Given the description of an element on the screen output the (x, y) to click on. 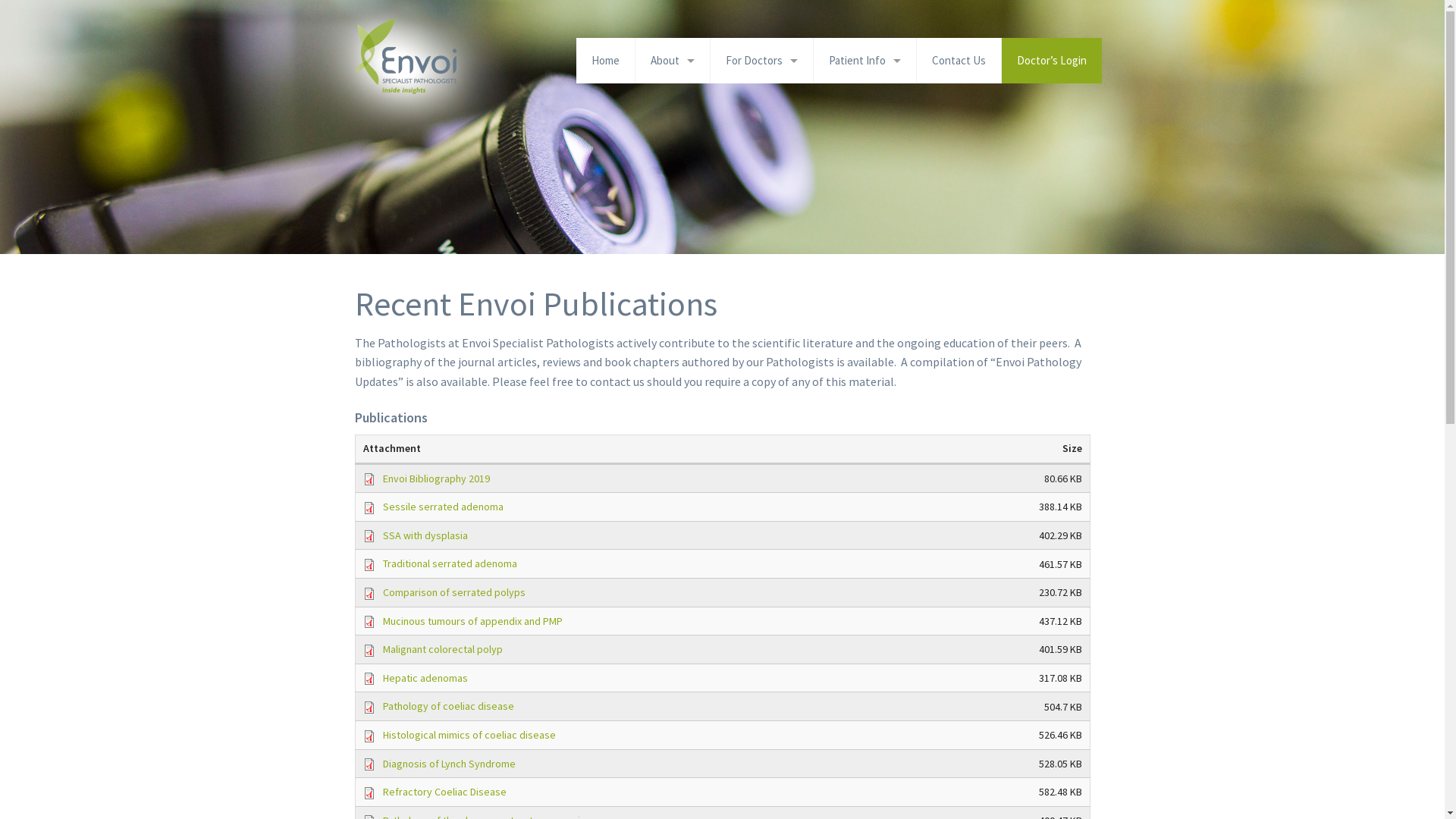
application/pdf Element type: hover (370, 621)
application/pdf Element type: hover (370, 650)
Patient Info Element type: text (863, 60)
Prof Andrew Clouston Element type: text (672, 314)
Mucinous tumours of appendix and PMP Element type: text (471, 620)
Dr Ian Brown Element type: text (672, 207)
Diagnosis of Lynch Syndrome Element type: text (448, 763)
application/pdf Element type: hover (370, 508)
application/pdf Element type: hover (370, 536)
Traditional serrated adenoma Element type: text (449, 563)
About Element type: text (672, 60)
Histological mimics of coeliac disease Element type: text (468, 734)
Contact Us Element type: text (958, 60)
application/pdf Element type: hover (370, 793)
Envoi Pathology Home Element type: hover (451, 133)
Hepatic adenomas Element type: text (424, 677)
Dr Nicole Kramer Element type: text (672, 278)
application/pdf Element type: hover (370, 678)
Fees and Payment Element type: text (863, 171)
Malignant colorectal polyp Element type: text (442, 648)
Sessile serrated adenoma Element type: text (442, 506)
About my tests Element type: text (863, 136)
Dr Greg Miller Element type: text (672, 171)
Envoi Bibliography 2019 Element type: text (435, 478)
application/pdf Element type: hover (370, 479)
application/pdf Element type: hover (370, 735)
application/pdf Element type: hover (370, 593)
Dr Christophe Rosty Element type: text (672, 136)
Frequently Asked Questions Element type: text (863, 100)
Recent Envoi Publications Element type: text (760, 136)
Dr Mark Bettington Element type: text (672, 242)
For Doctors Element type: text (760, 60)
SSA with dysplasia Element type: text (424, 535)
application/pdf Element type: hover (370, 707)
Pathology of coeliac disease Element type: text (447, 705)
Pathology Forms Element type: text (760, 100)
Comparison of serrated polyps Element type: text (453, 592)
Skip to main content Element type: text (54, 0)
Dr Catherine Campbell Element type: text (672, 100)
Refractory Coeliac Disease Element type: text (443, 791)
application/pdf Element type: hover (370, 564)
application/pdf Element type: hover (370, 764)
Home Element type: text (605, 60)
